Given the description of an element on the screen output the (x, y) to click on. 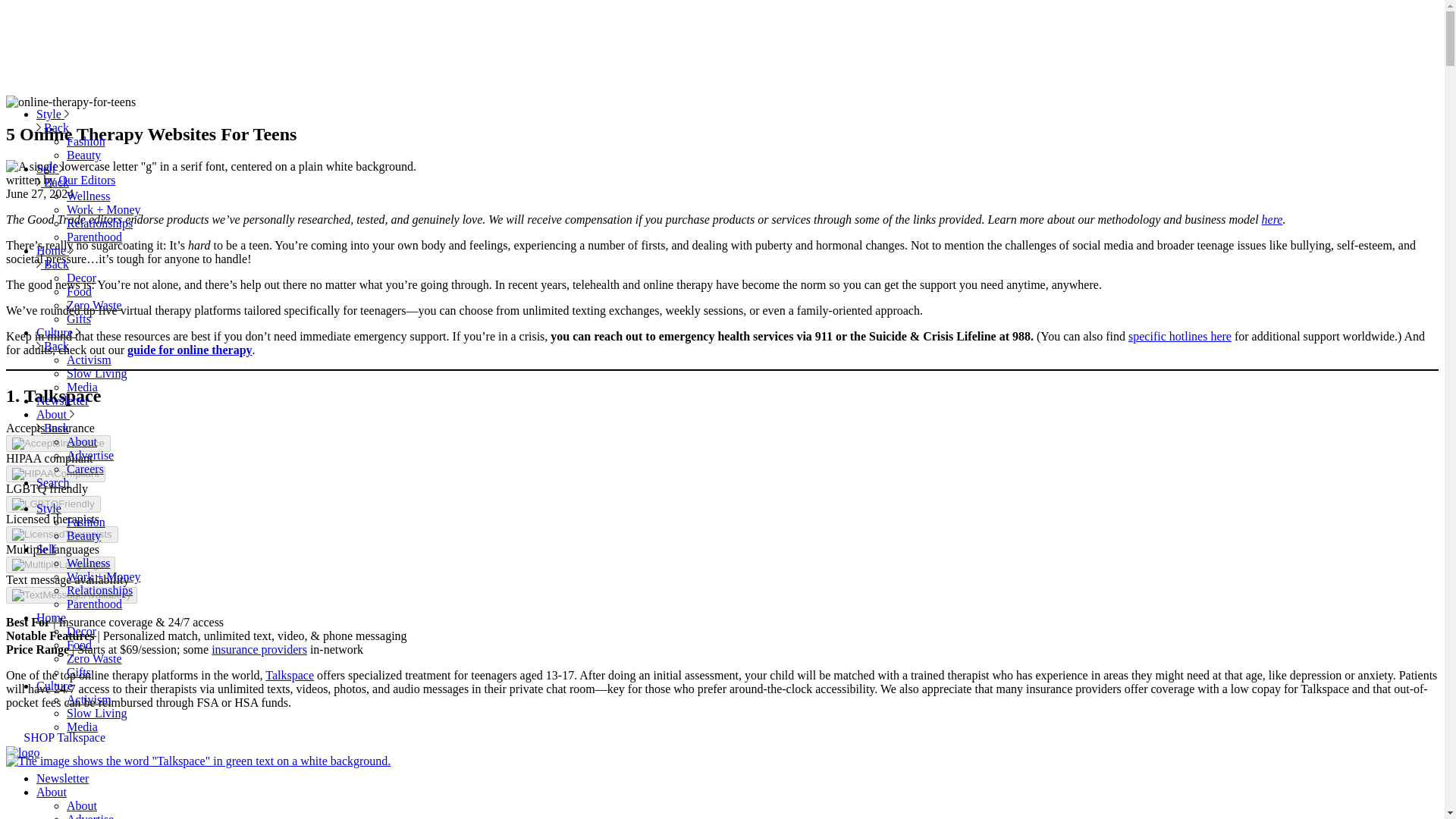
Media (81, 386)
About (81, 440)
Wellness (88, 195)
Careers (84, 468)
Back (52, 182)
Slow Living (97, 373)
Decor (81, 631)
Food (78, 644)
Advertise (89, 454)
Food (78, 291)
